Given the description of an element on the screen output the (x, y) to click on. 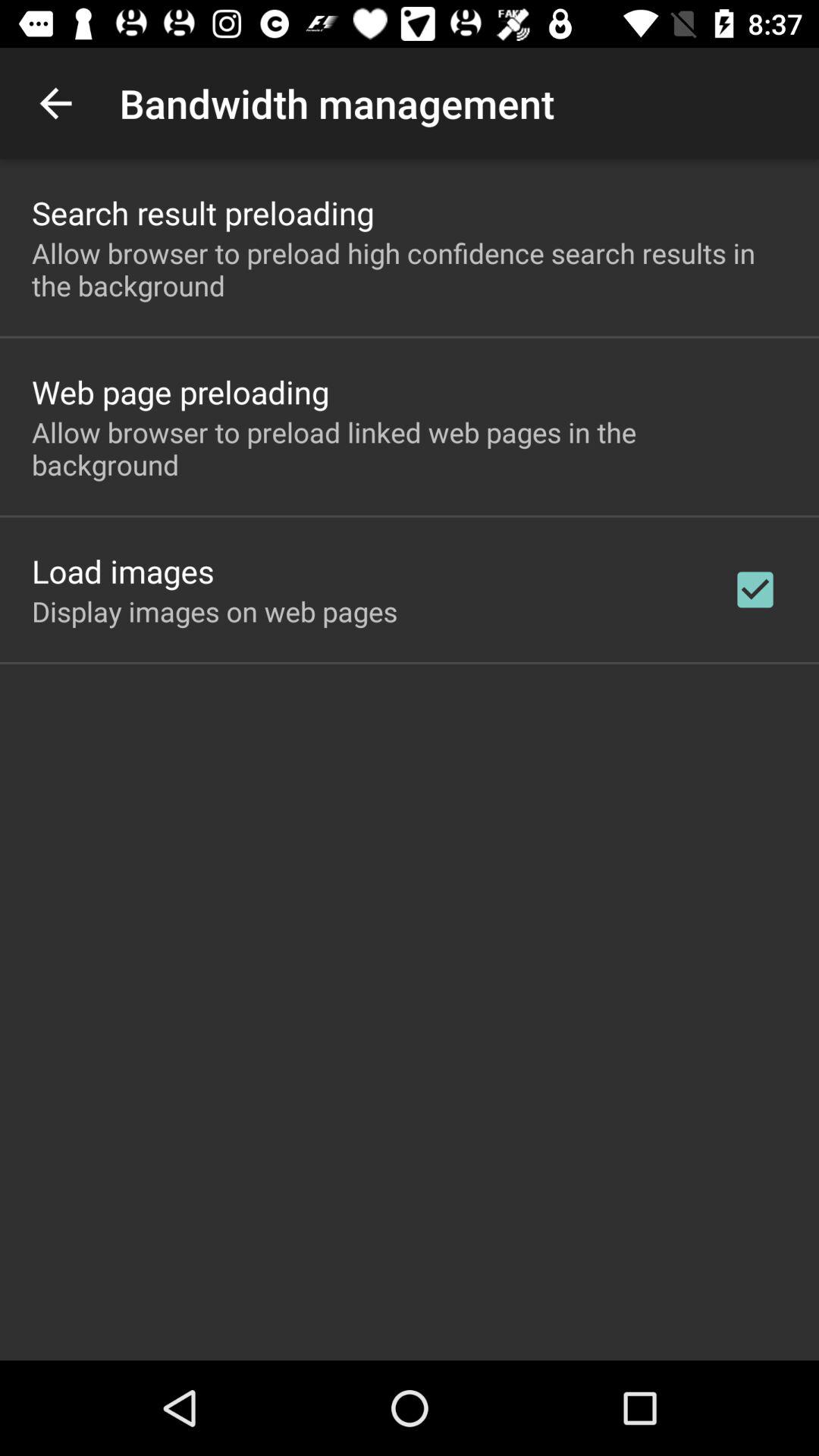
scroll to the load images item (122, 570)
